Given the description of an element on the screen output the (x, y) to click on. 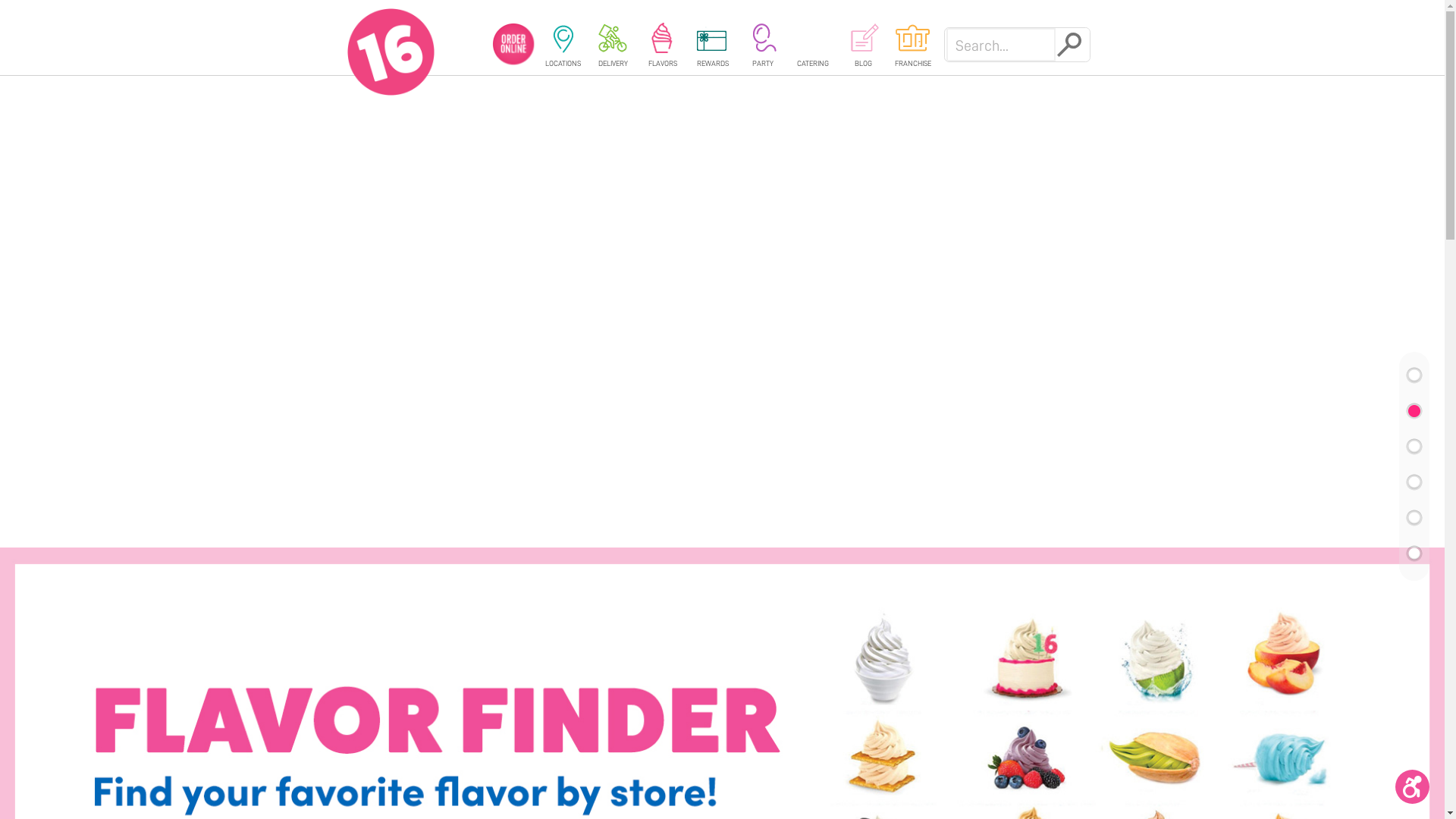
section 6 Element type: text (1413, 553)
section 2 Element type: text (1413, 410)
Submit Element type: text (1072, 42)
REWARDS Element type: text (712, 44)
LOCATIONS Element type: text (562, 44)
section 1 Element type: text (1413, 375)
Home Element type: hover (390, 49)
Order Now Element type: hover (722, 43)
FLAVORS Element type: text (662, 44)
CATERING Element type: text (812, 44)
section 3 Element type: text (1413, 446)
section 4 Element type: text (1413, 481)
PARTY Element type: text (762, 44)
DELIVERY Element type: text (612, 44)
section 5 Element type: text (1413, 517)
FRANCHISE Element type: text (912, 44)
BLOG Element type: text (862, 44)
